Given the description of an element on the screen output the (x, y) to click on. 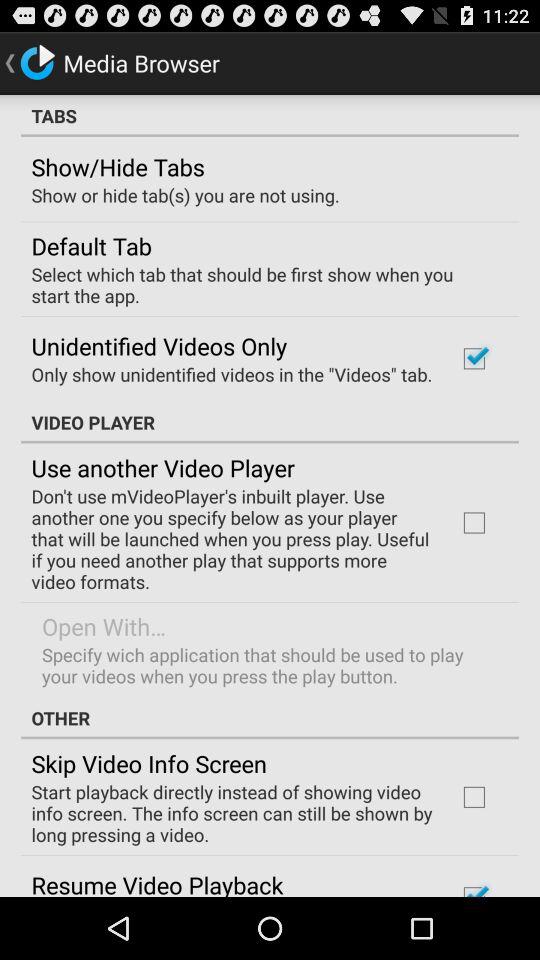
launch the specify wich application app (268, 665)
